Given the description of an element on the screen output the (x, y) to click on. 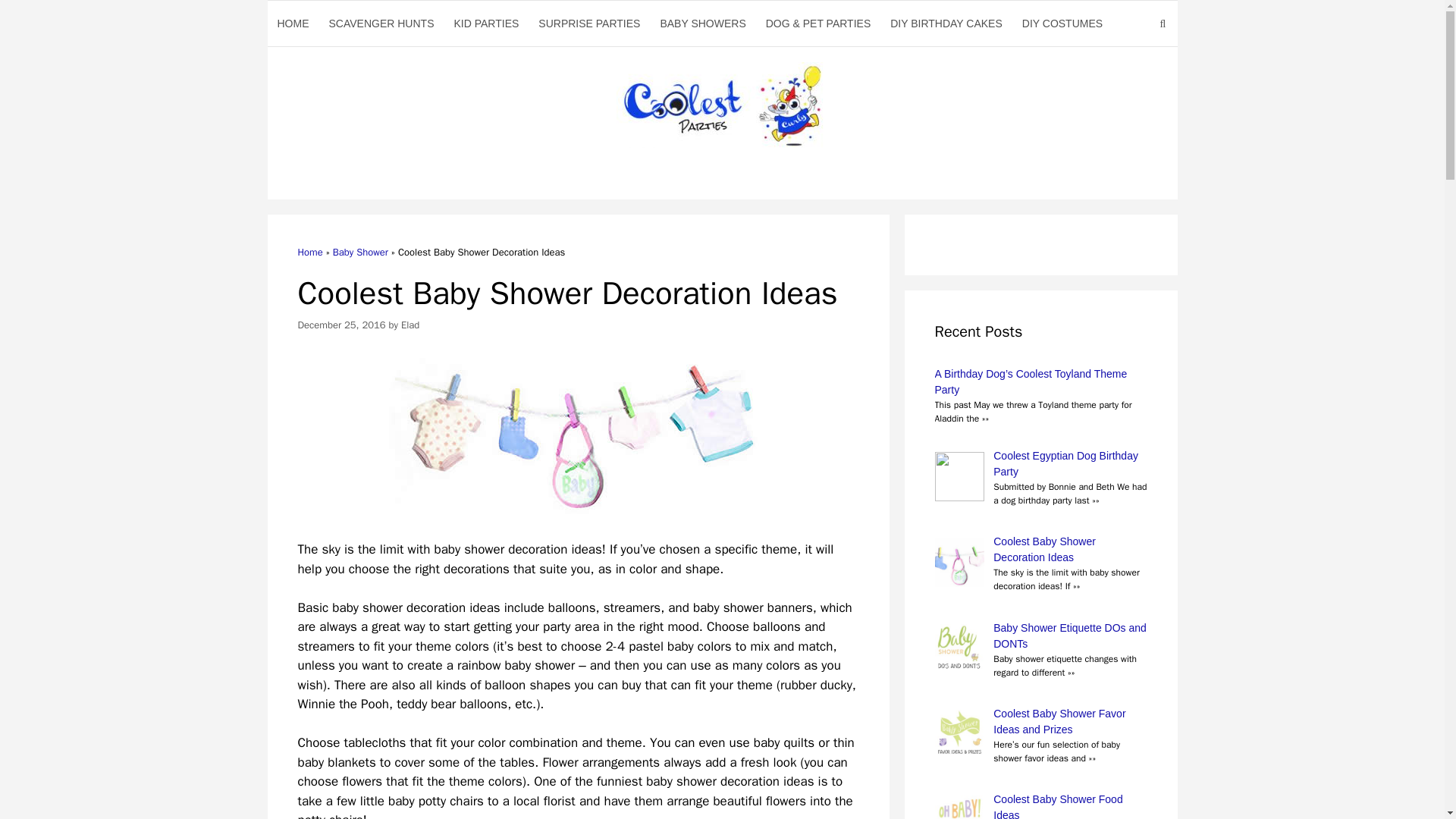
Coolest Baby Shower Decoration Ideas (1040, 549)
Elad (410, 324)
SURPRISE PARTIES (588, 22)
Home (309, 251)
Baby Shower Etiquette DOs and DONTs (1040, 635)
SCAVENGER HUNTS (381, 22)
Coolest Baby Shower Food Ideas (1040, 805)
HOME (292, 22)
Coolest Egyptian Dog Birthday Party (1040, 463)
Baby Shower (360, 251)
